Given the description of an element on the screen output the (x, y) to click on. 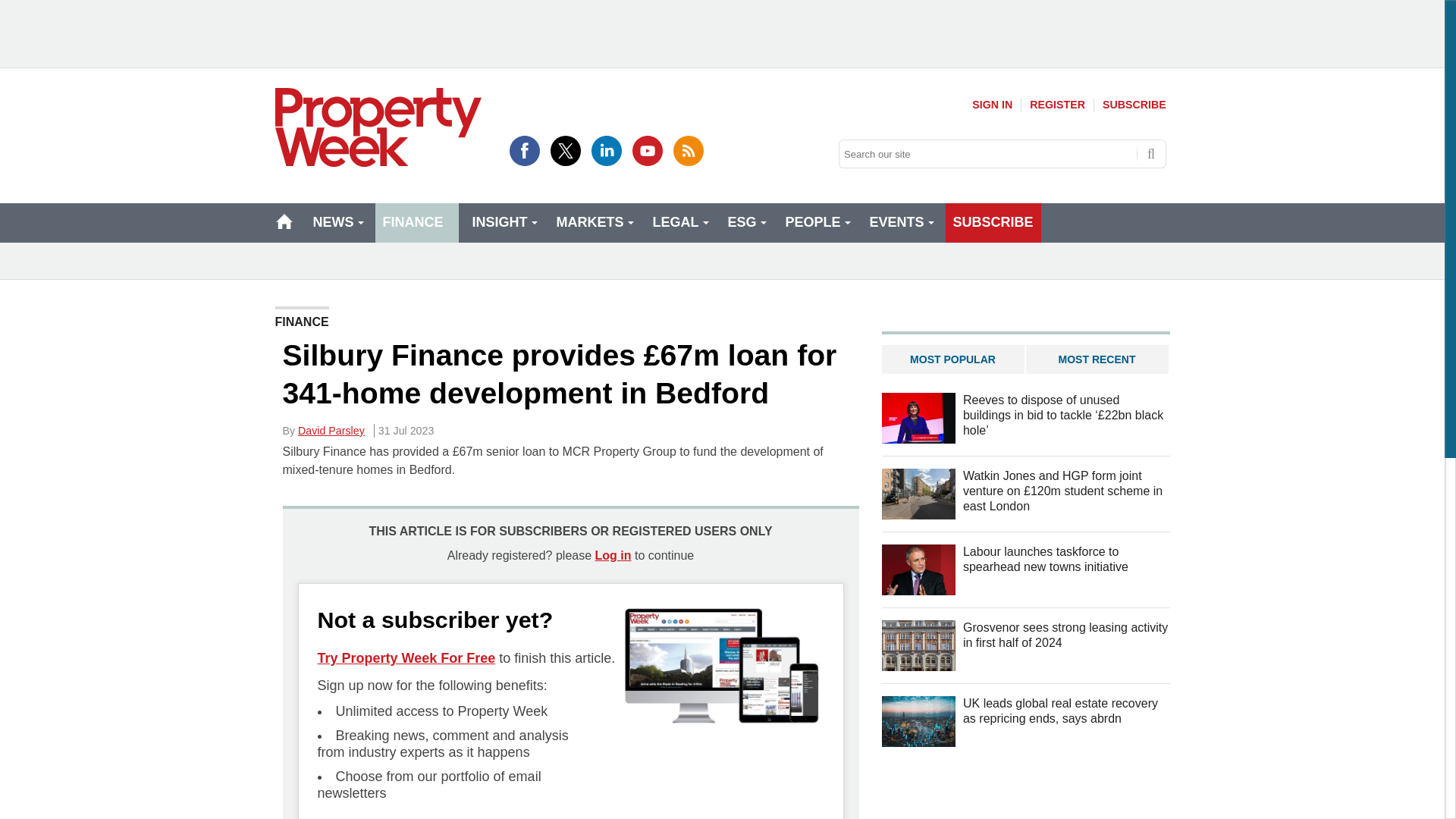
NEWS (336, 222)
SUBSCRIBE (1134, 105)
Property Week (377, 127)
Search (1151, 153)
HOME (283, 221)
SIGN IN (991, 105)
FINANCE (416, 222)
Labour launches taskforce to spearhead new towns initiative (917, 569)
Grosvenor sees strong leasing activity in first half of 2024 (917, 644)
REGISTER (1056, 105)
